Given the description of an element on the screen output the (x, y) to click on. 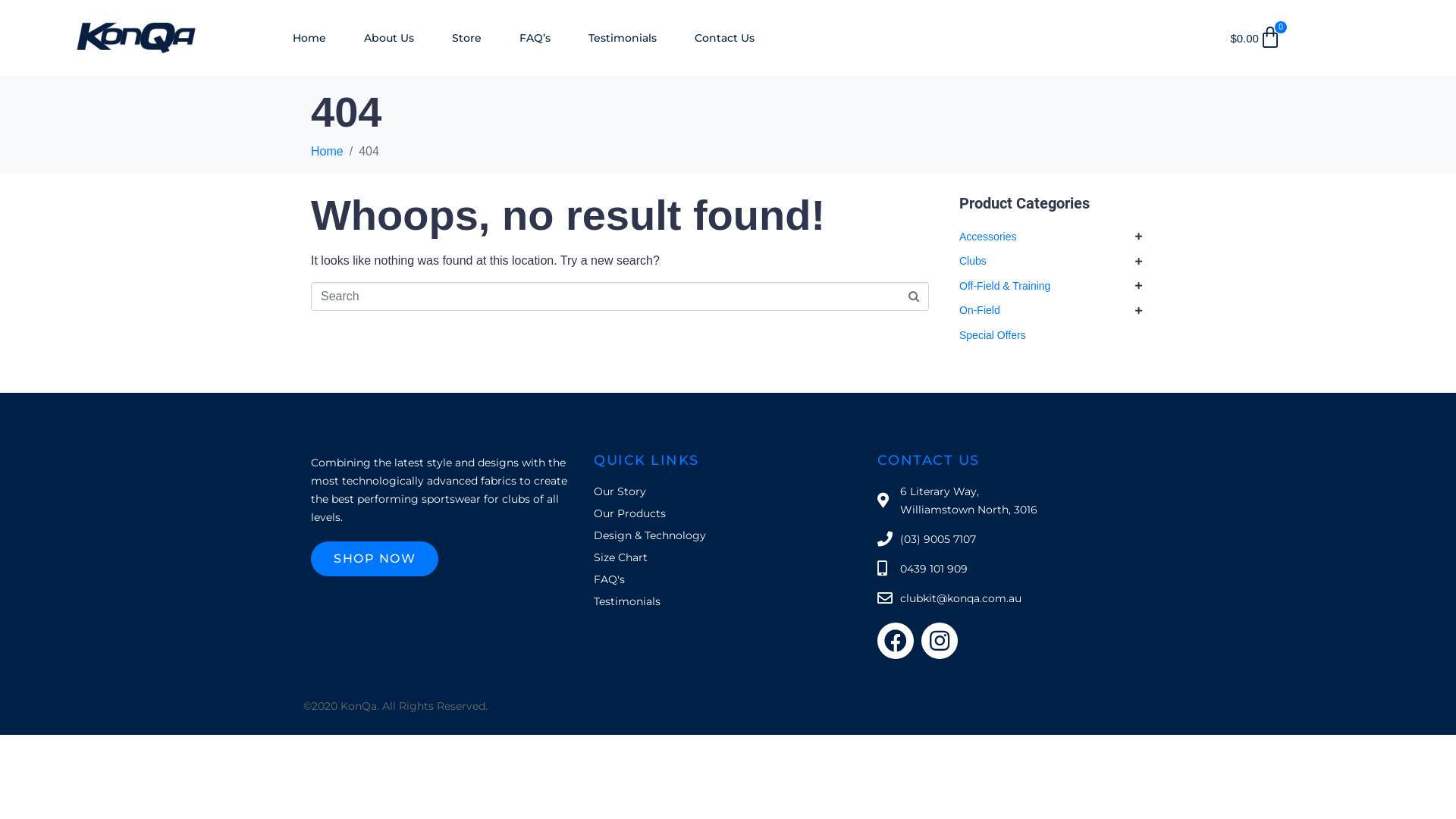
Special Offers Element type: text (992, 335)
Clubs Element type: text (972, 260)
On-Field Element type: text (979, 310)
Home Element type: text (309, 37)
Design & Technology Element type: text (727, 535)
Size Chart Element type: text (727, 557)
(03) 9005 7107 Element type: text (1011, 539)
About Us Element type: text (389, 37)
Store Element type: text (466, 37)
0439 101 909 Element type: text (1011, 568)
clubkit@konqa.com.au Element type: text (1011, 598)
Contact Us Element type: text (724, 37)
Testimonials Element type: text (622, 37)
SHOP NOW Element type: text (374, 558)
Our Story Element type: text (727, 491)
Testimonials Element type: text (727, 601)
$0.00
0 Element type: text (1255, 37)
Off-Field & Training Element type: text (1004, 285)
Home Element type: text (326, 150)
FAQ's Element type: text (727, 579)
Accessories Element type: text (987, 236)
Our Products Element type: text (727, 513)
